Given the description of an element on the screen output the (x, y) to click on. 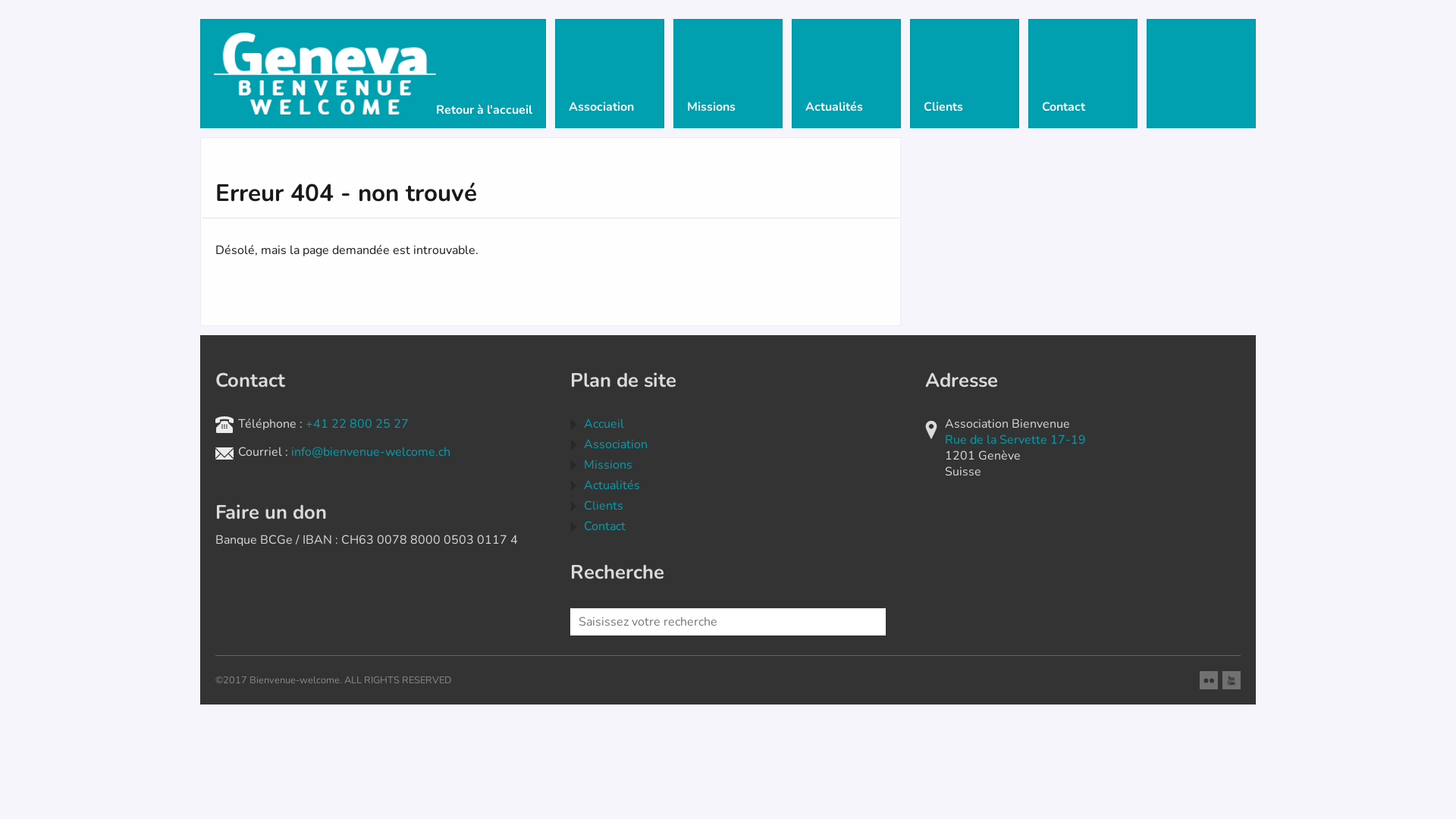
Accueil Element type: text (603, 423)
Missions Element type: text (607, 464)
Contact Element type: text (604, 525)
Missions Element type: text (727, 73)
Clients Element type: text (964, 73)
Association Element type: text (609, 73)
Contact Element type: text (1082, 73)
Rue de la Servette 17-19 Element type: text (1014, 439)
info@bienvenue-welcome.ch Element type: text (370, 451)
Association Element type: text (615, 444)
Clients Element type: text (603, 505)
+41 22 800 25 27 Element type: text (356, 423)
